Given the description of an element on the screen output the (x, y) to click on. 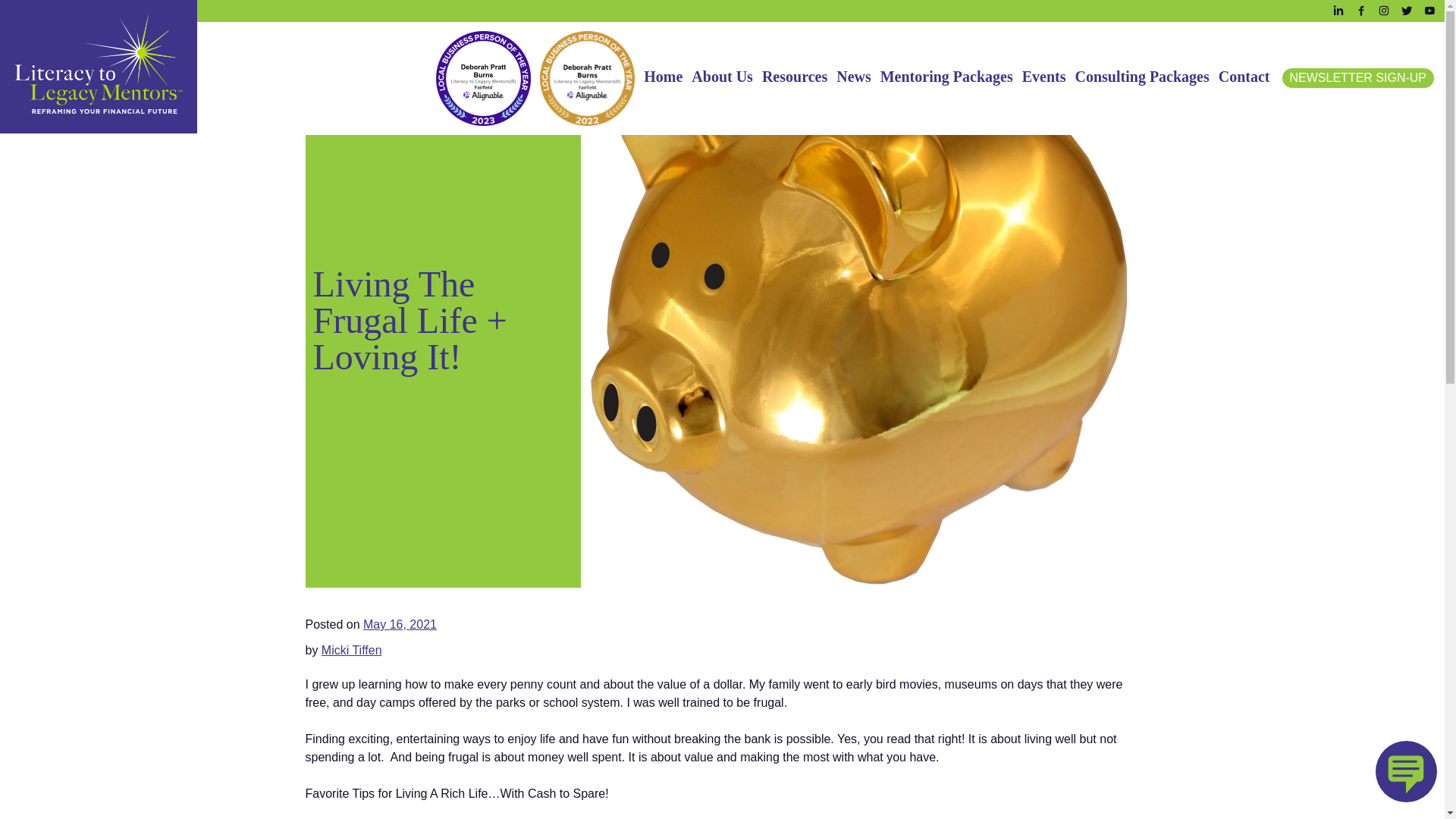
About Us (721, 76)
NEWSLETTER SIGN-UP (1358, 77)
Consulting Packages (1141, 76)
Follow Literacy to Legacy Mentors on youtube (1429, 7)
May 16, 2021 (399, 624)
Follow Literacy to Legacy Mentors on instagram (1383, 7)
Home (662, 76)
Events (1043, 76)
Subscribe to our Newsletter (1358, 77)
All Blog Posts (342, 31)
Blog Posts (342, 31)
Mentoring Packages (946, 76)
Follow Literacy to Legacy Mentors on linkedin (1337, 7)
News (853, 76)
Resources (793, 76)
